Given the description of an element on the screen output the (x, y) to click on. 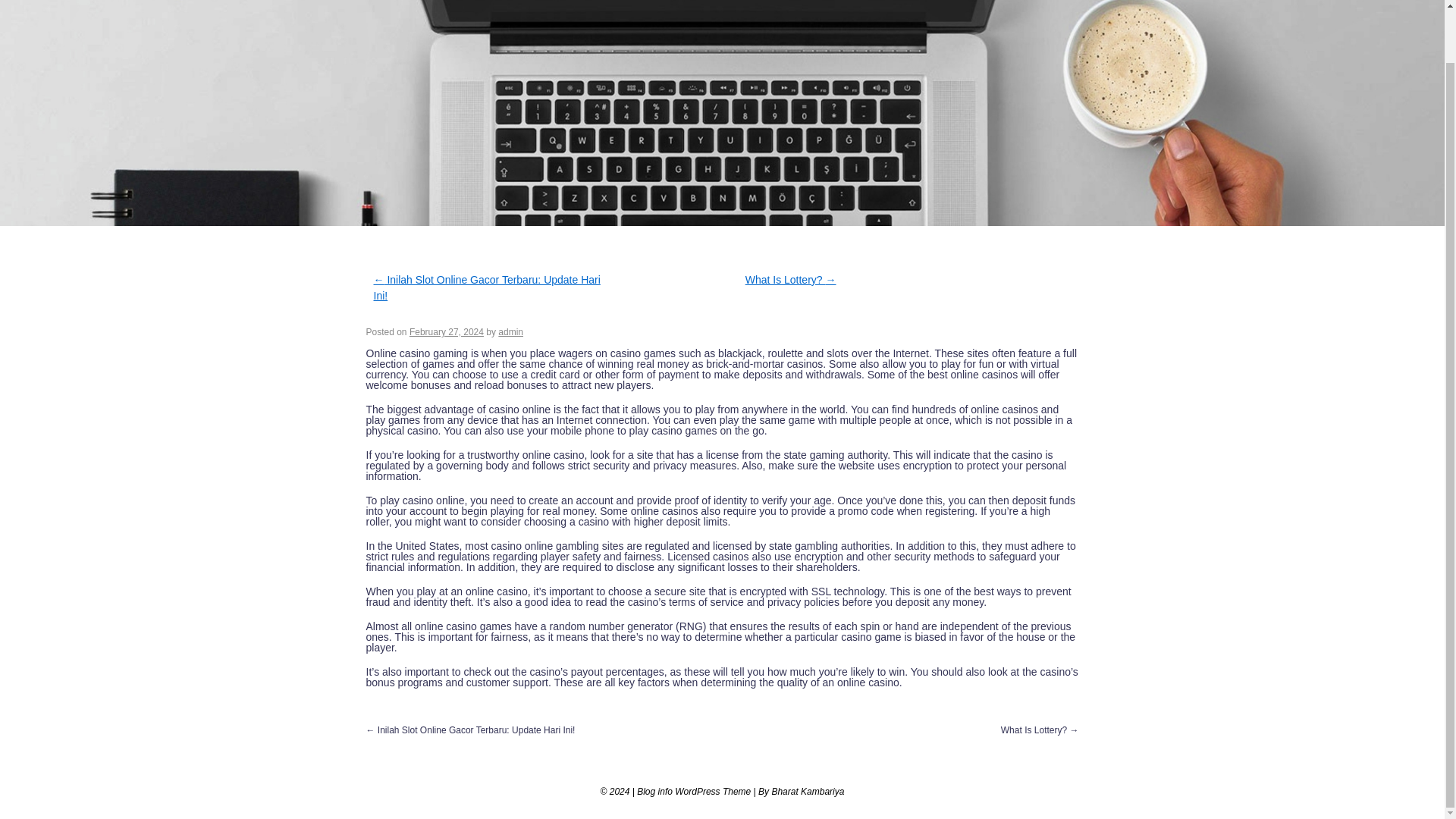
View all posts by admin (509, 331)
5:36 am (446, 331)
February 27, 2024 (446, 331)
admin (509, 331)
